Given the description of an element on the screen output the (x, y) to click on. 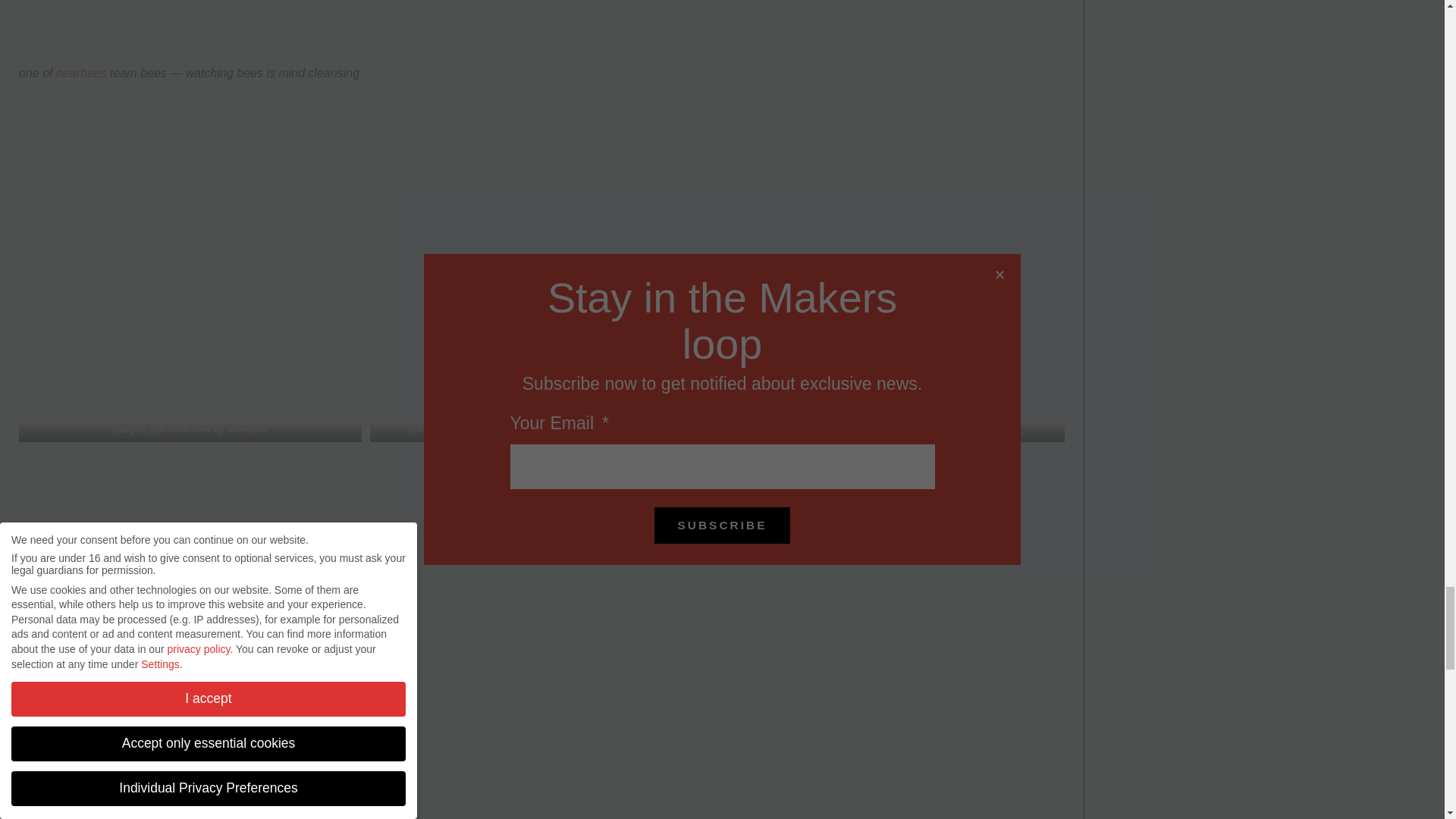
nearbees (81, 72)
sneeboer (247, 428)
Fresh Sprouts (488, 428)
inspirations (876, 428)
